Given the description of an element on the screen output the (x, y) to click on. 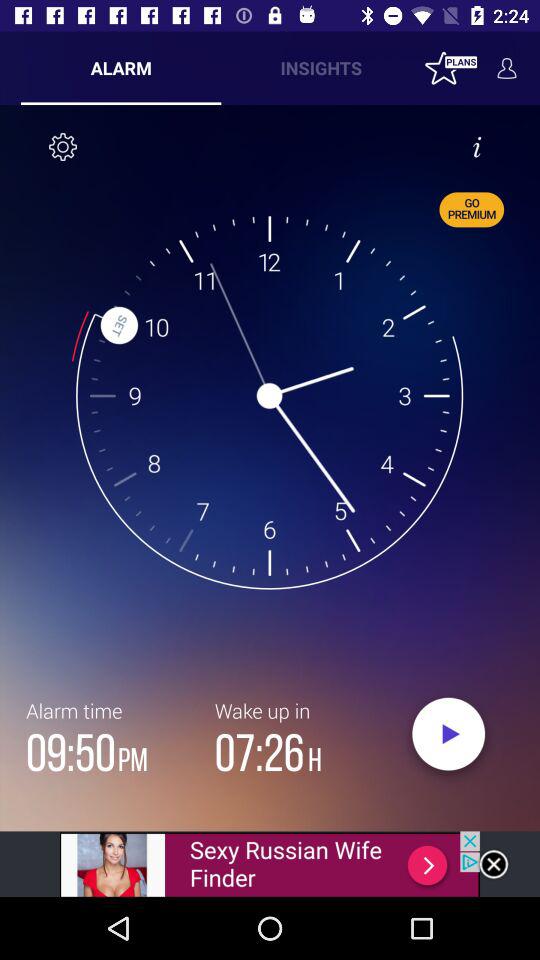
go to colse (493, 864)
